Given the description of an element on the screen output the (x, y) to click on. 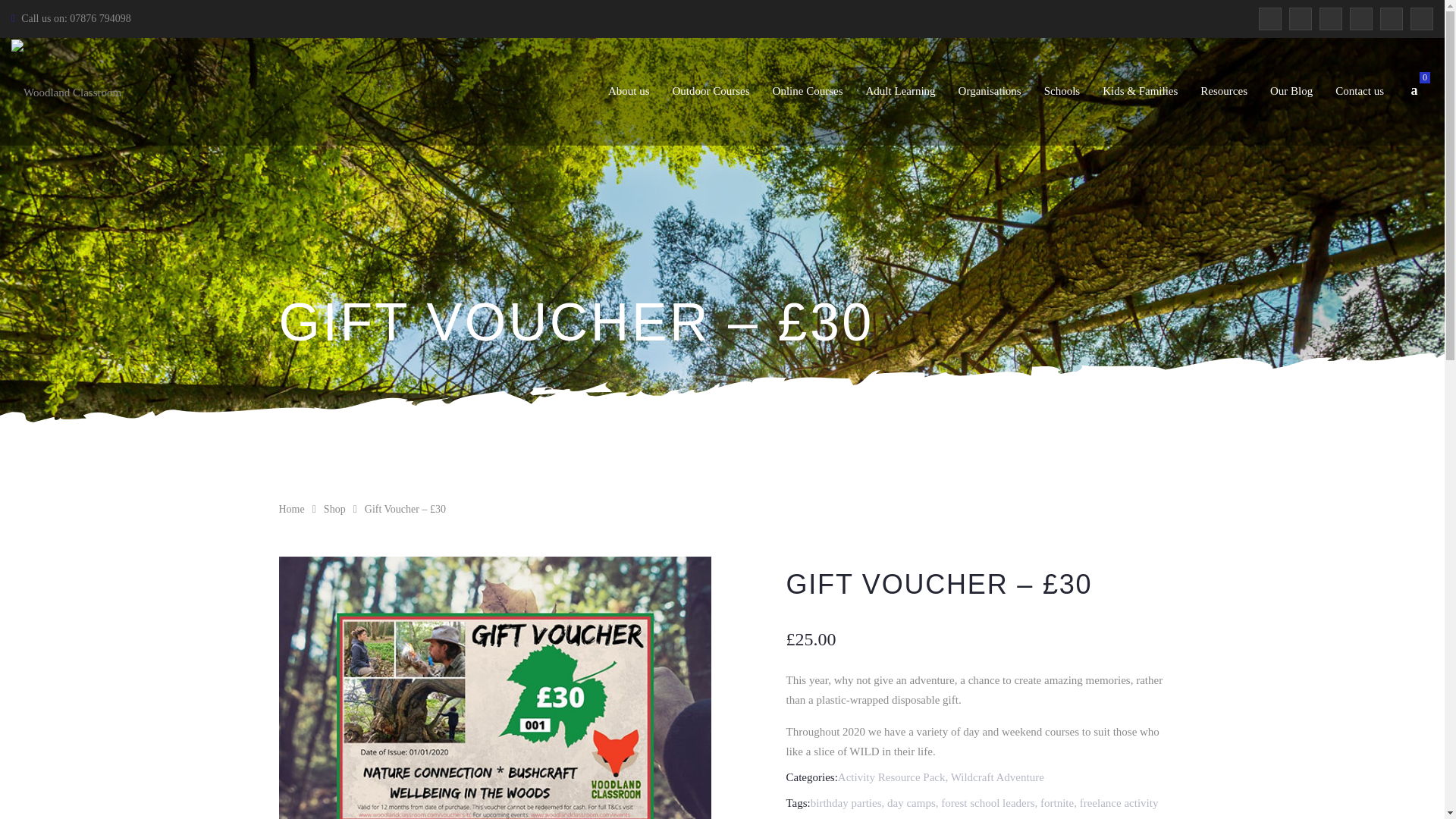
About us (628, 90)
Instagram (1391, 18)
Pinterest (1330, 18)
Organisations (989, 90)
Online Courses (807, 90)
Facebook (1270, 18)
LinkedIn (1361, 18)
gift-voucher-30 (495, 687)
Adult Learning (900, 90)
Twitter (1299, 18)
Youtube (1421, 18)
Outdoor Courses (711, 90)
